Given the description of an element on the screen output the (x, y) to click on. 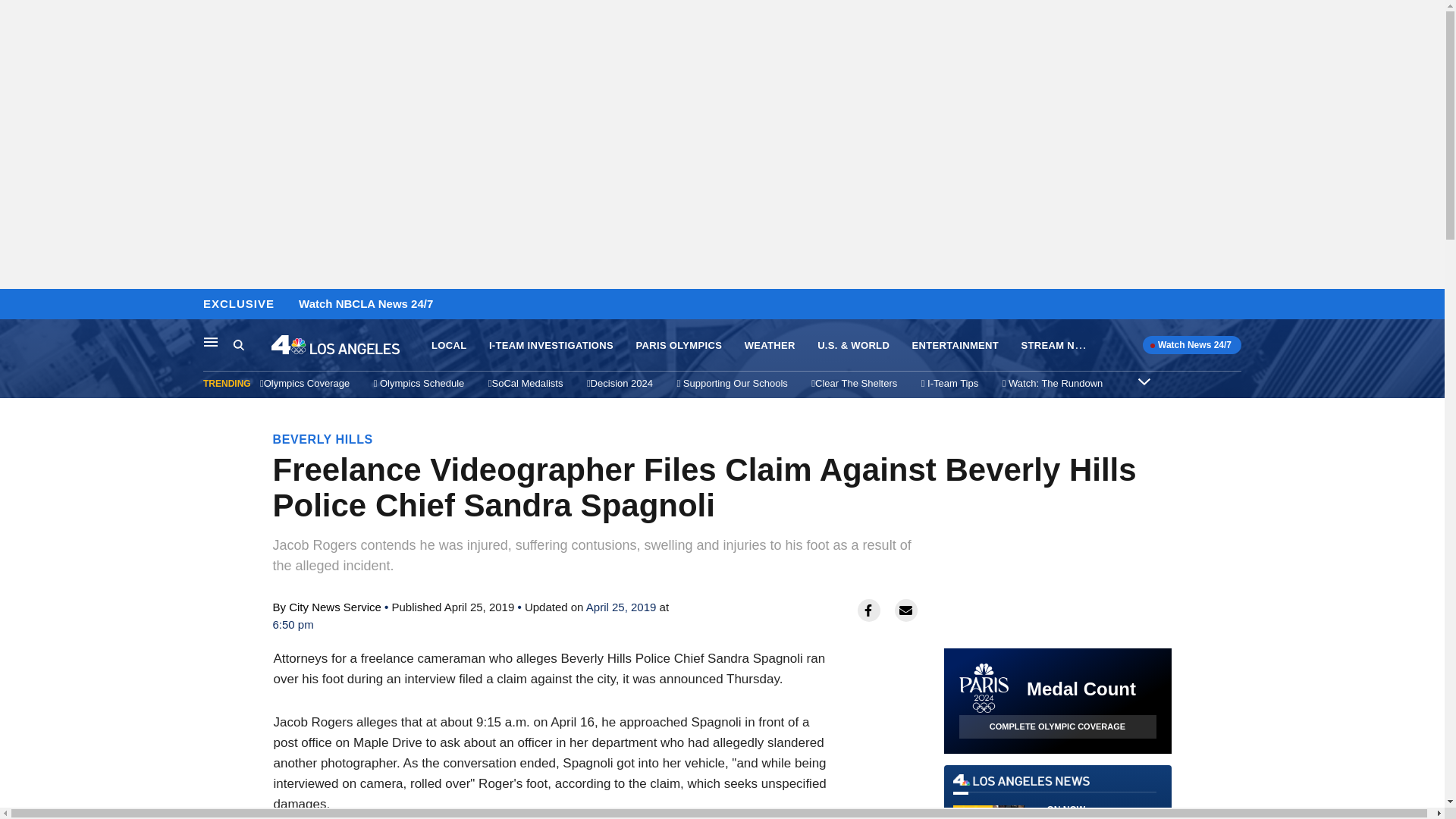
COMPLETE OLYMPIC COVERAGE (1056, 796)
Main Navigation (1057, 726)
Skip to content (210, 341)
Search (16, 304)
PARIS OLYMPICS (252, 345)
I-TEAM INVESTIGATIONS (678, 345)
WEATHER (550, 345)
ENTERTAINMENT (769, 345)
Expand (955, 345)
